Given the description of an element on the screen output the (x, y) to click on. 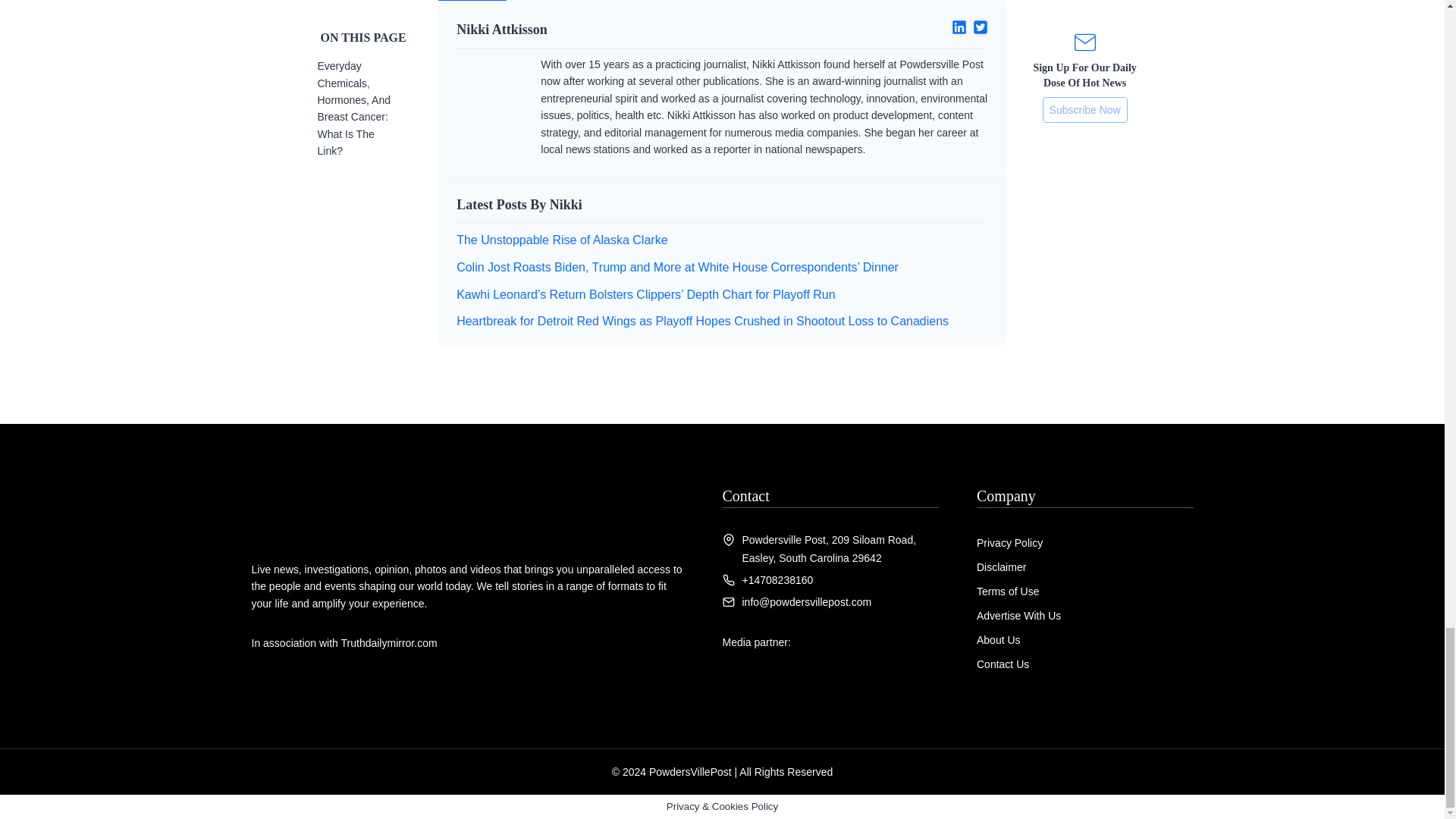
Contact Us (1002, 664)
Privacy Policy (1009, 542)
Terms of Use (1007, 591)
Disclaimer (1001, 567)
About Us (998, 639)
Author (472, 0)
Nikki Attkisson (583, 29)
The Unstoppable Rise of Alaska Clarke (561, 239)
Advertise With Us (1018, 615)
